Given the description of an element on the screen output the (x, y) to click on. 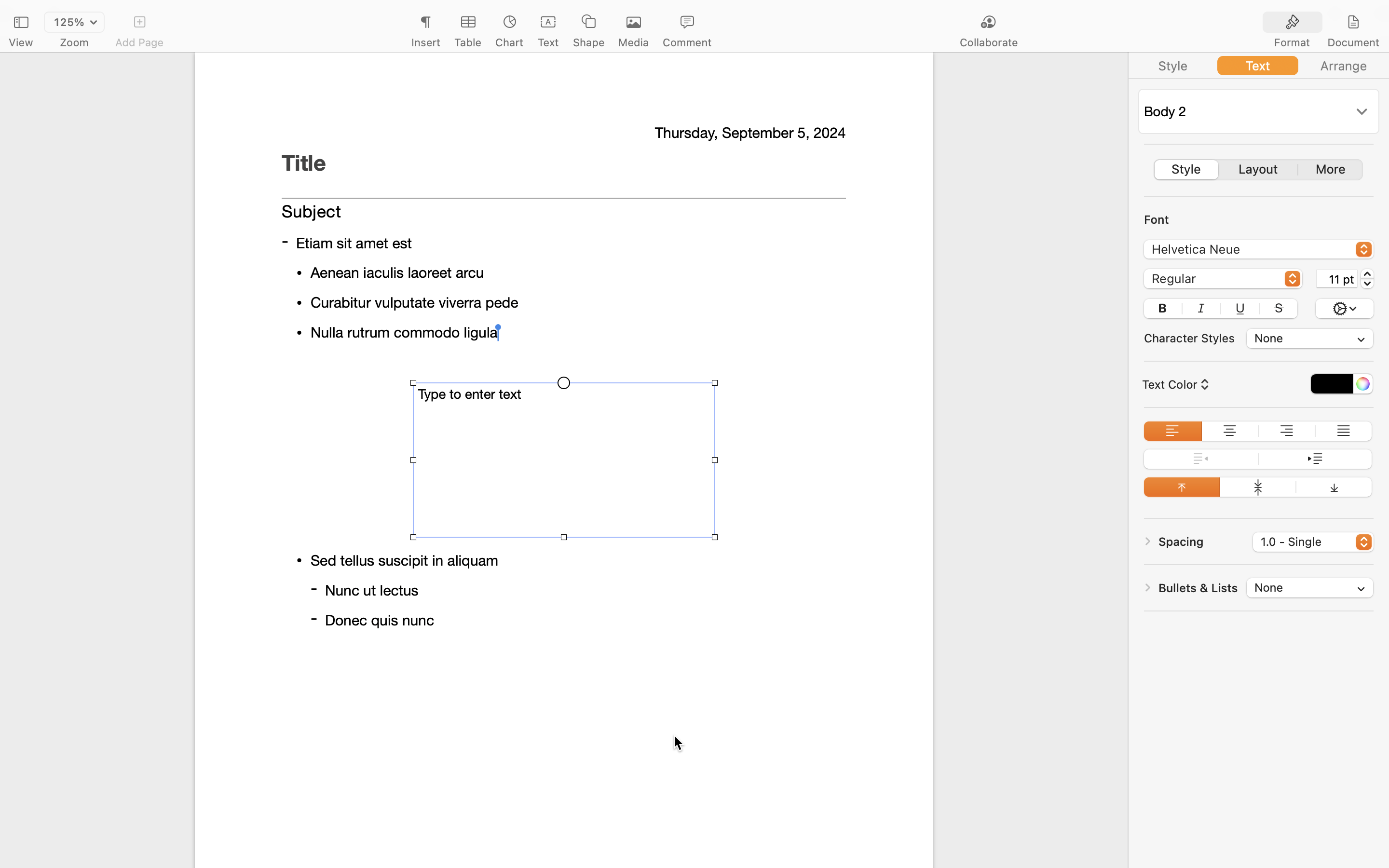
View Element type: AXStaticText (20, 42)
Character Styles Element type: AXStaticText (1189, 337)
Text Color Element type: AXPopUpButton (1174, 384)
Document Element type: AXStaticText (1352, 42)
Format Element type: AXStaticText (1291, 42)
